Given the description of an element on the screen output the (x, y) to click on. 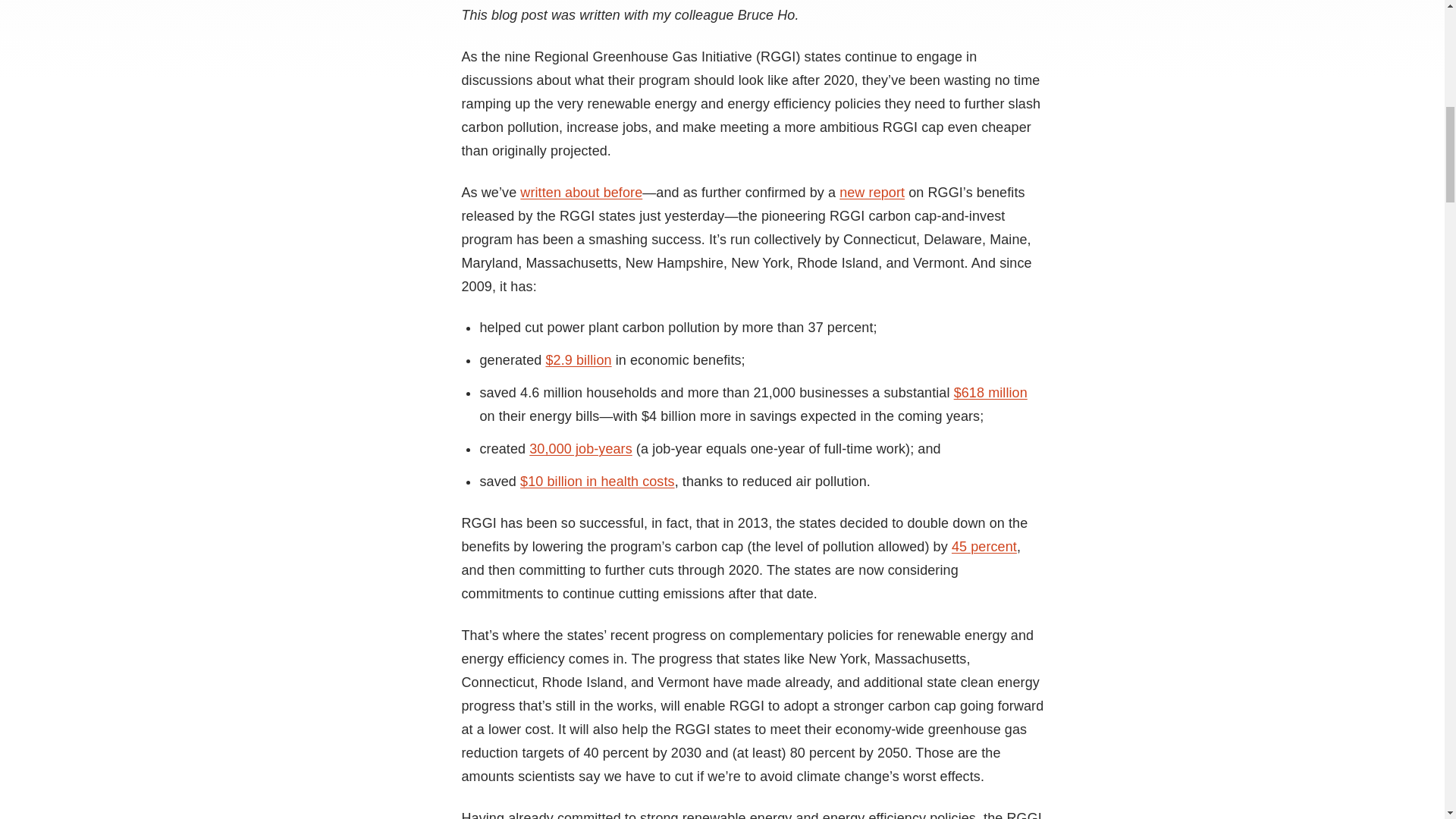
Share this page block (149, 1)
Share this page block (180, 1)
Share this page block (210, 1)
